Given the description of an element on the screen output the (x, y) to click on. 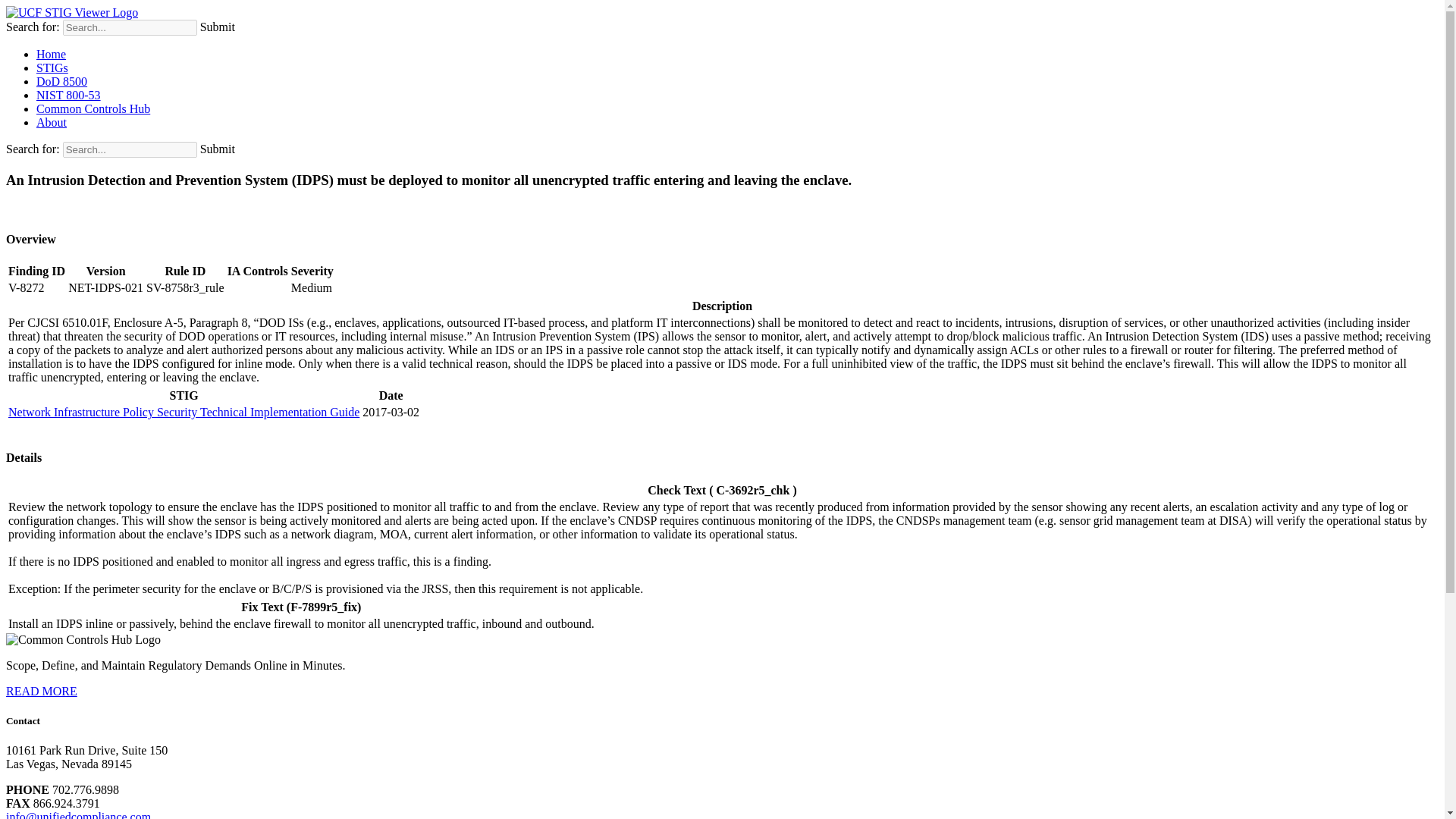
Common Controls Hub (92, 108)
About (51, 122)
STIGs (52, 67)
NIST 800-53 (68, 94)
Submit (217, 148)
DoD 8500 (61, 81)
Submit (217, 26)
Home (50, 53)
READ MORE (41, 689)
